Given the description of an element on the screen output the (x, y) to click on. 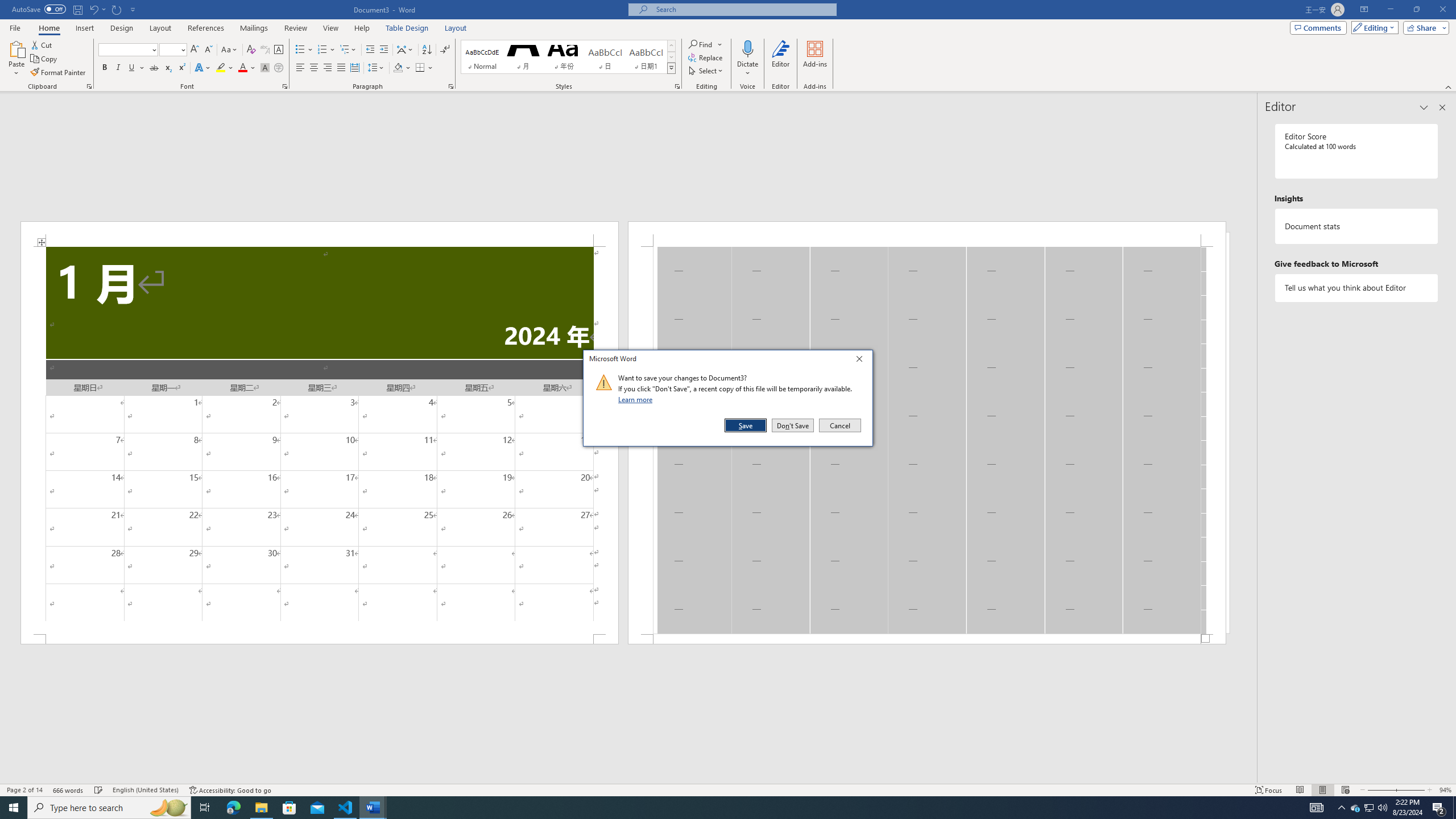
Class: NetUIScrollBar (628, 778)
Cut (42, 44)
Read Mode (1299, 790)
Tell us what you think about Editor (1356, 288)
Microsoft search (742, 9)
Asian Layout (405, 49)
Row up (670, 45)
Type here to search (108, 807)
Bold (104, 67)
Font Size (169, 49)
Font Color (246, 67)
Cancel (839, 425)
Find (700, 44)
Copy (45, 58)
